Given the description of an element on the screen output the (x, y) to click on. 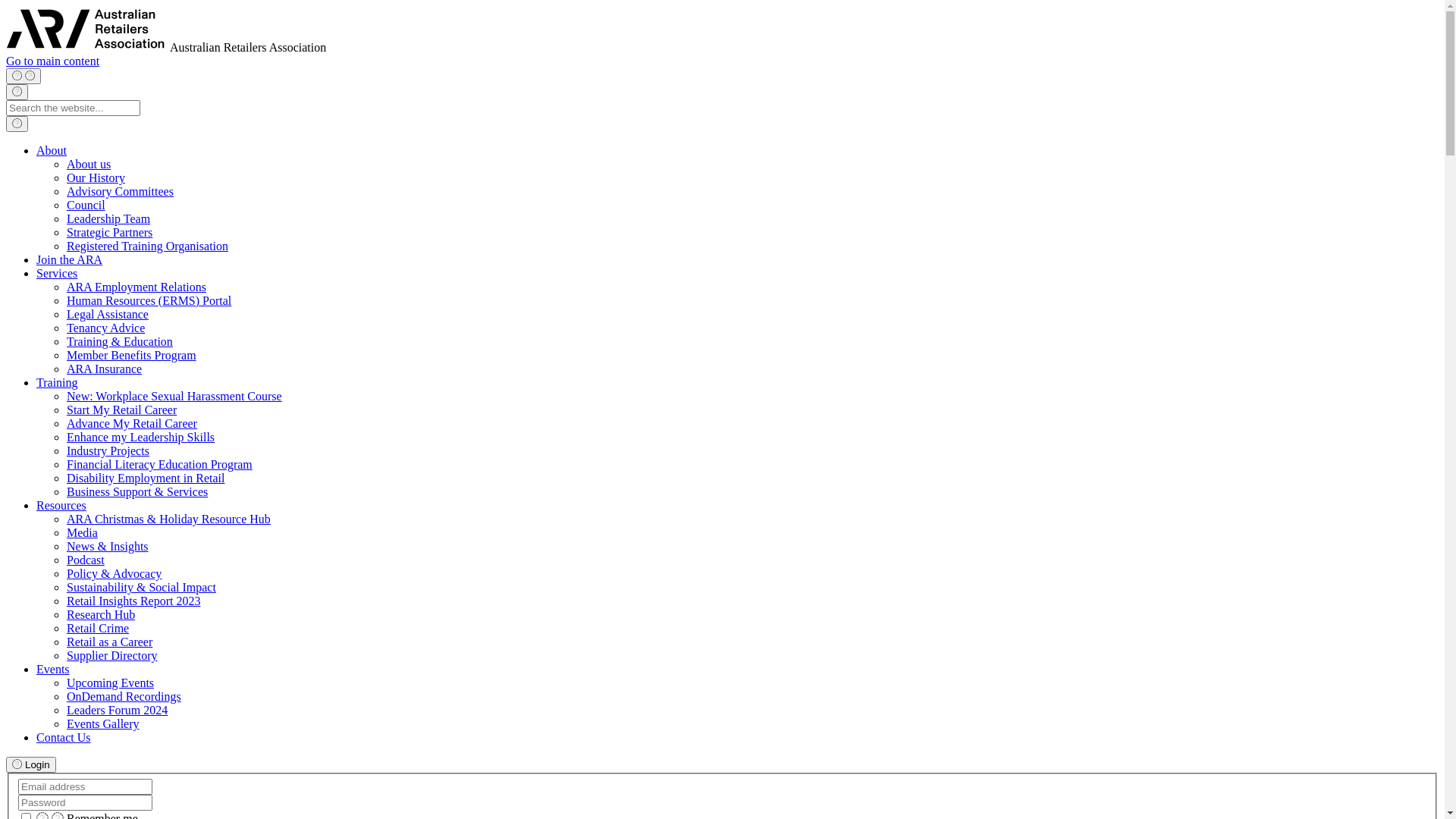
Training & Education Element type: text (119, 341)
Business Support & Services Element type: text (136, 491)
Research Hub Element type: text (100, 614)
Go to main content Element type: text (52, 60)
Member Benefits Program Element type: text (131, 354)
Supplier Directory Element type: text (111, 655)
Login Element type: text (31, 764)
Leaders Forum 2024 Element type: text (116, 709)
Retail Insights Report 2023 Element type: text (133, 600)
New: Workplace Sexual Harassment Course Element type: text (174, 395)
Search Element type: text (17, 92)
Search Element type: text (17, 123)
Podcast Element type: text (85, 559)
Advance My Retail Career Element type: text (131, 423)
Industry Projects Element type: text (107, 450)
Retail Crime Element type: text (97, 627)
Legal Assistance Element type: text (107, 313)
Financial Literacy Education Program Element type: text (159, 464)
Events Gallery Element type: text (102, 723)
ARA Insurance Element type: text (103, 368)
Strategic Partners Element type: text (109, 231)
Media Element type: text (81, 532)
Tenancy Advice Element type: text (105, 327)
About us Element type: text (88, 163)
Leadership Team Element type: text (108, 218)
OnDemand Recordings Element type: text (123, 696)
Contact Us Element type: text (63, 737)
Council Element type: text (85, 204)
Registered Training Organisation Element type: text (147, 245)
Join the ARA Element type: text (69, 259)
Enhance my Leadership Skills Element type: text (140, 436)
Services Element type: text (56, 272)
News & Insights Element type: text (107, 545)
Sustainability & Social Impact Element type: text (141, 586)
ARA Christmas & Holiday Resource Hub Element type: text (168, 518)
Disability Employment in Retail Element type: text (145, 477)
Toggle menu Toggle menu Element type: text (23, 76)
Policy & Advocacy Element type: text (113, 573)
Training Element type: text (57, 382)
ARA Employment Relations Element type: text (136, 286)
Our History Element type: text (95, 177)
About Element type: text (51, 150)
Resources Element type: text (61, 504)
Advisory Committees Element type: text (119, 191)
Start My Retail Career Element type: text (121, 409)
Human Resources (ERMS) Portal Element type: text (148, 300)
Retail as a Career Element type: text (109, 641)
Events Element type: text (52, 668)
Upcoming Events Element type: text (109, 682)
